Given the description of an element on the screen output the (x, y) to click on. 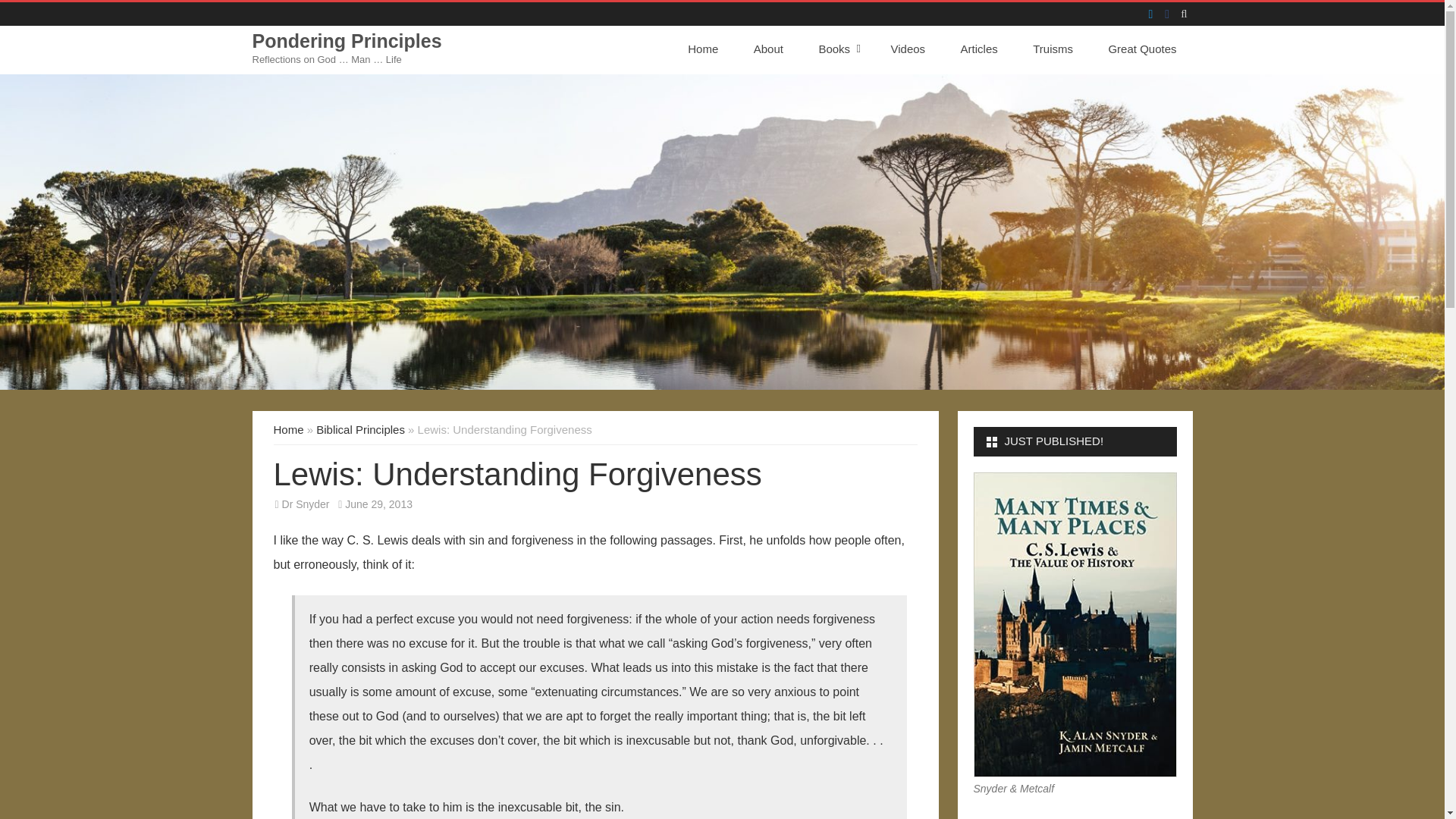
Home (287, 429)
Books (836, 48)
Pondering Principles (346, 40)
Articles (978, 48)
Biblical Principles (359, 429)
Home (707, 48)
Pondering Principles (346, 40)
Great Quotes (1142, 48)
Dr Snyder (306, 503)
Videos (908, 48)
About (768, 48)
Truisms (1052, 48)
